Given the description of an element on the screen output the (x, y) to click on. 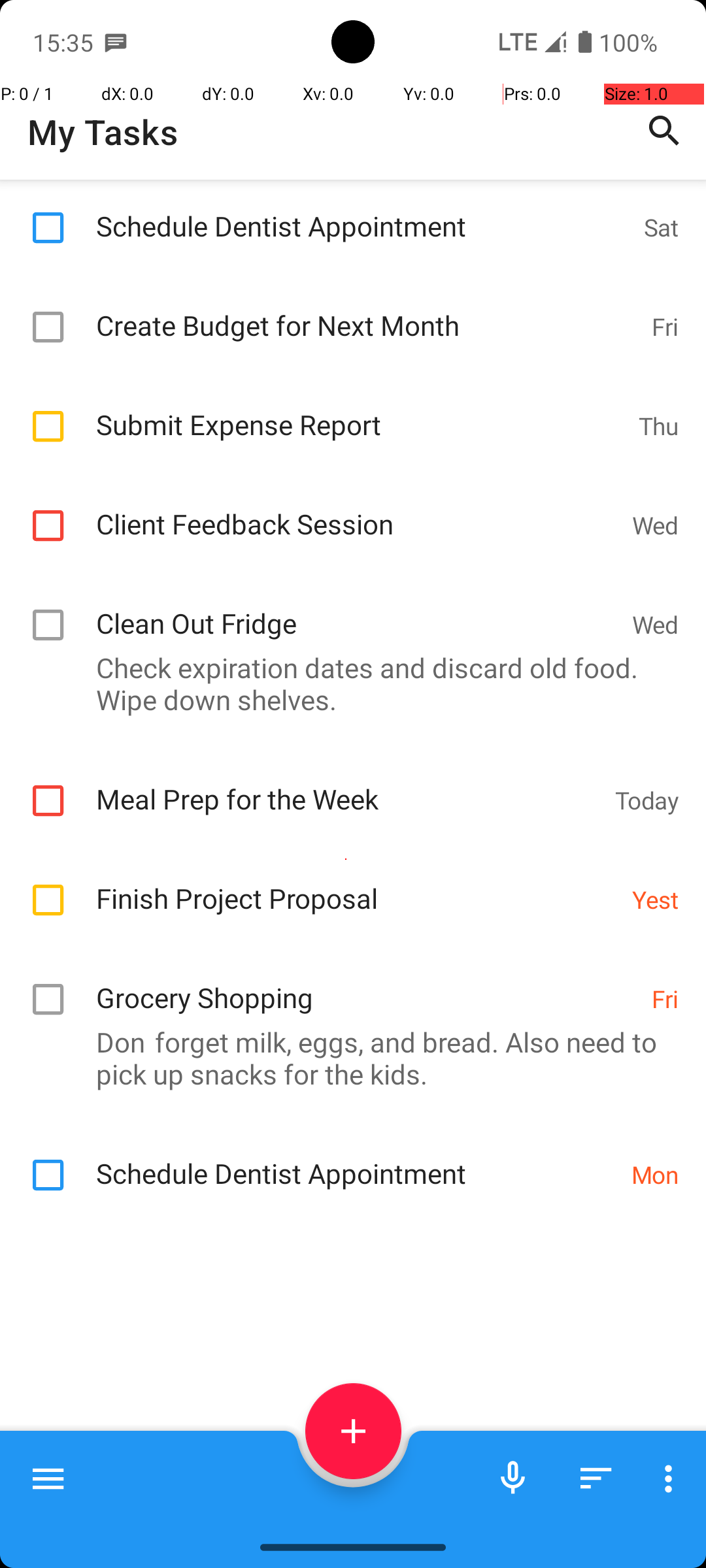
Client Feedback Session Element type: android.widget.TextView (357, 509)
Check expiration dates and discard old food. Wipe down shelves. Element type: android.widget.TextView (346, 683)
